Given the description of an element on the screen output the (x, y) to click on. 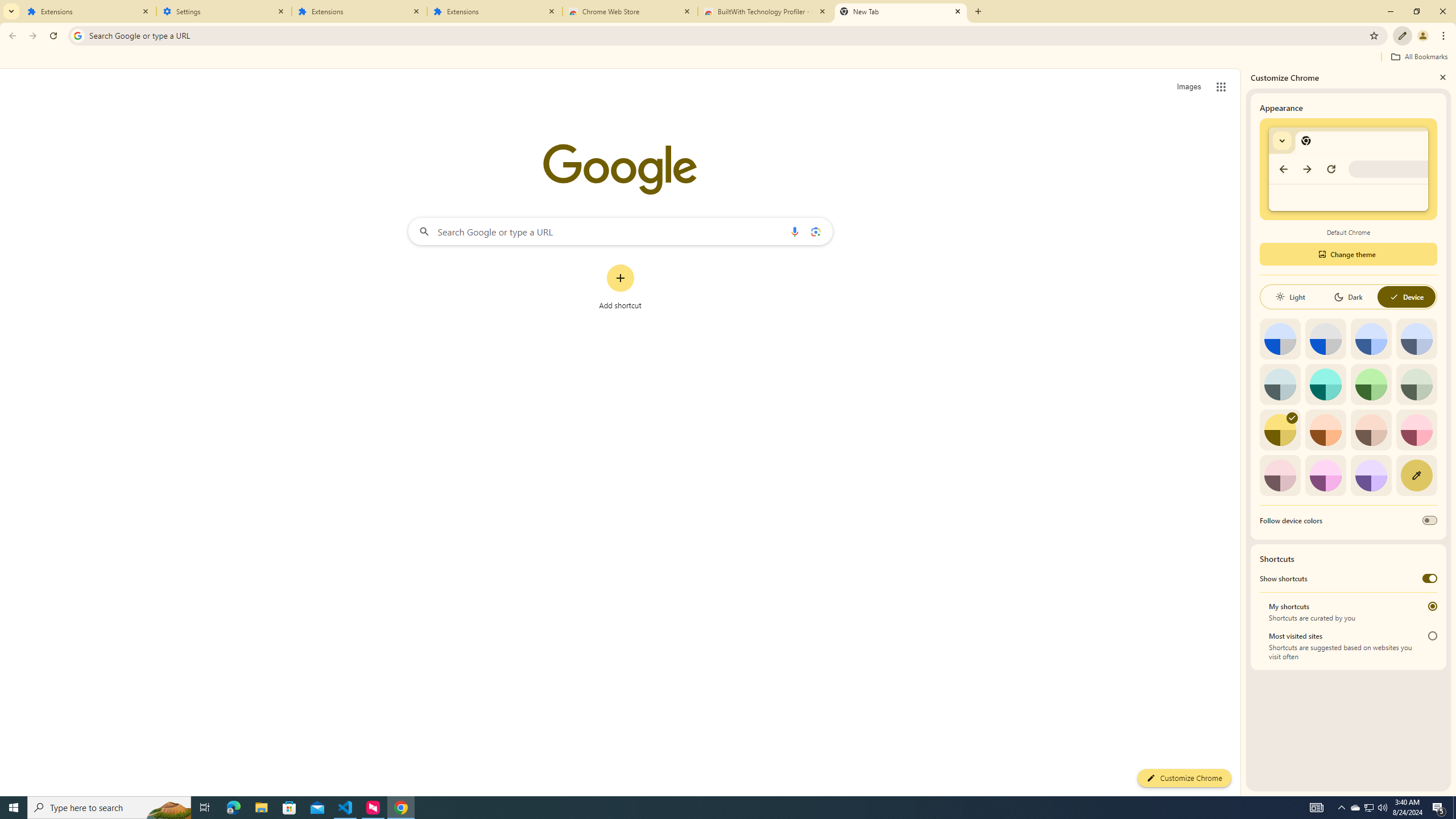
Blue (1371, 338)
Chrome Web Store (630, 11)
Grey default color (1325, 338)
Pink (1279, 475)
Default Chrome (1348, 169)
New Tab (901, 11)
Light (1289, 296)
Violet (1371, 475)
